Given the description of an element on the screen output the (x, y) to click on. 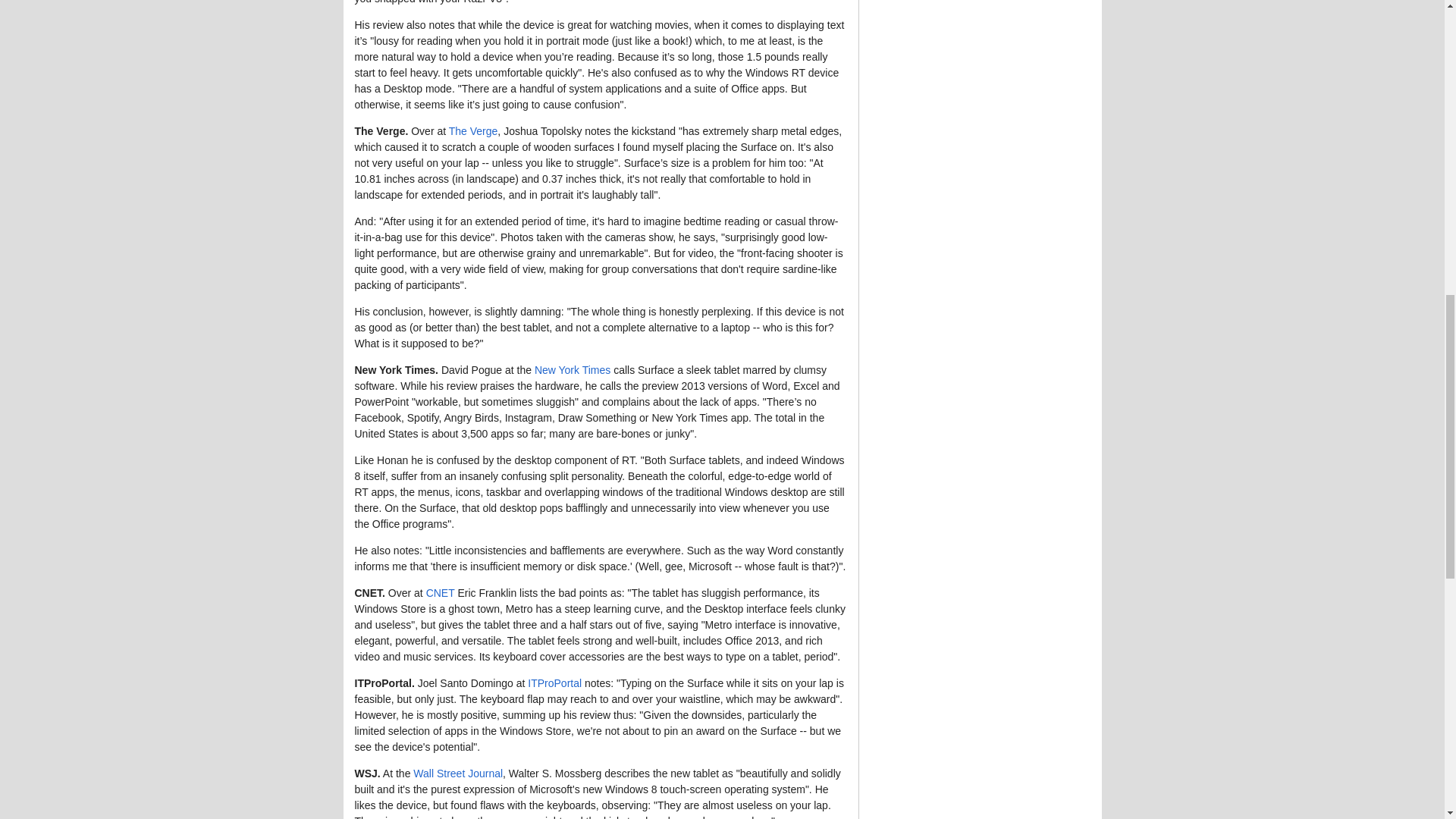
New York Times (572, 369)
Wall Street Journal (457, 773)
ITProPortal (553, 683)
The Verge (472, 131)
CNET (440, 592)
